Given the description of an element on the screen output the (x, y) to click on. 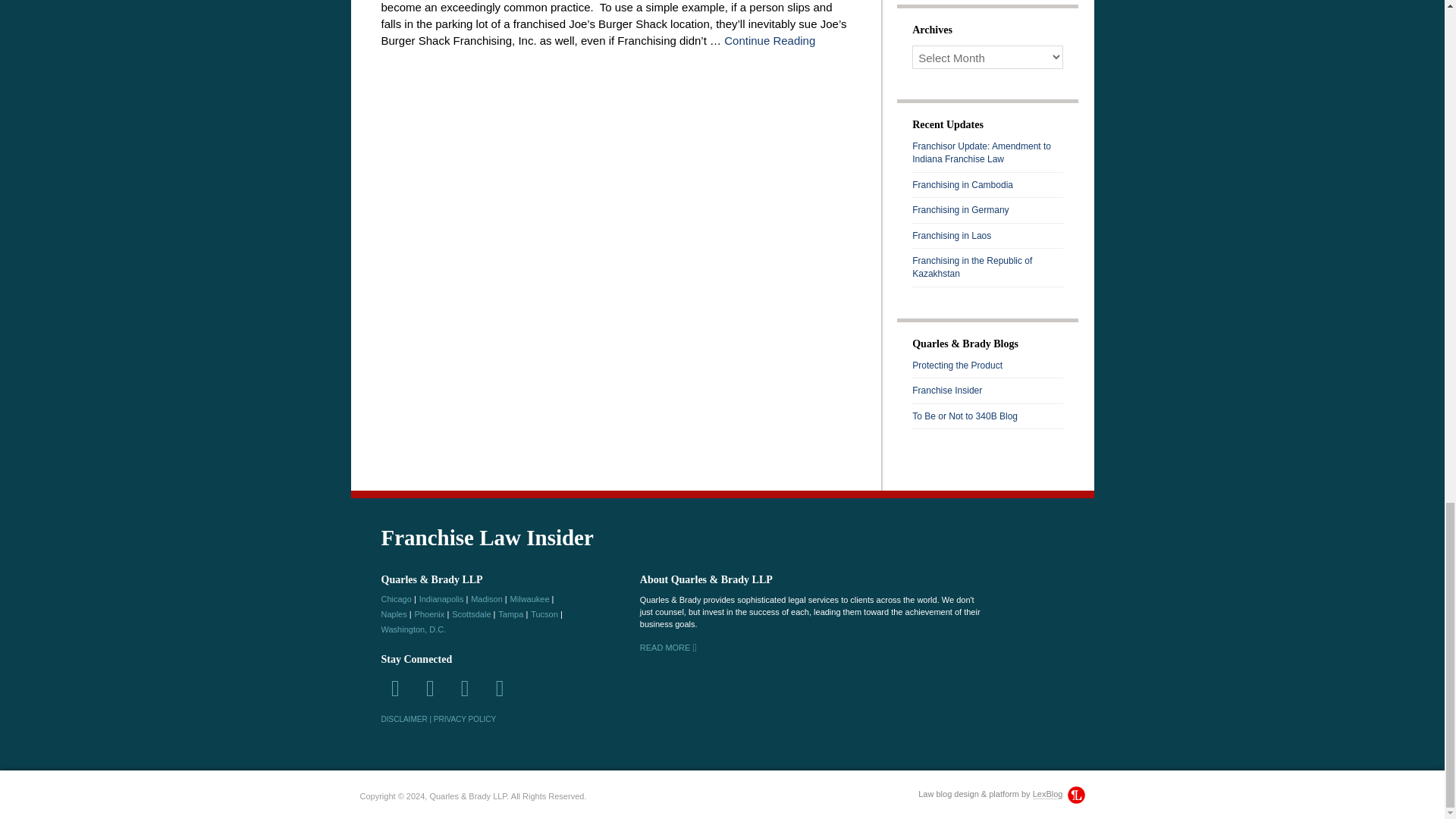
Continue Reading (769, 40)
